Given the description of an element on the screen output the (x, y) to click on. 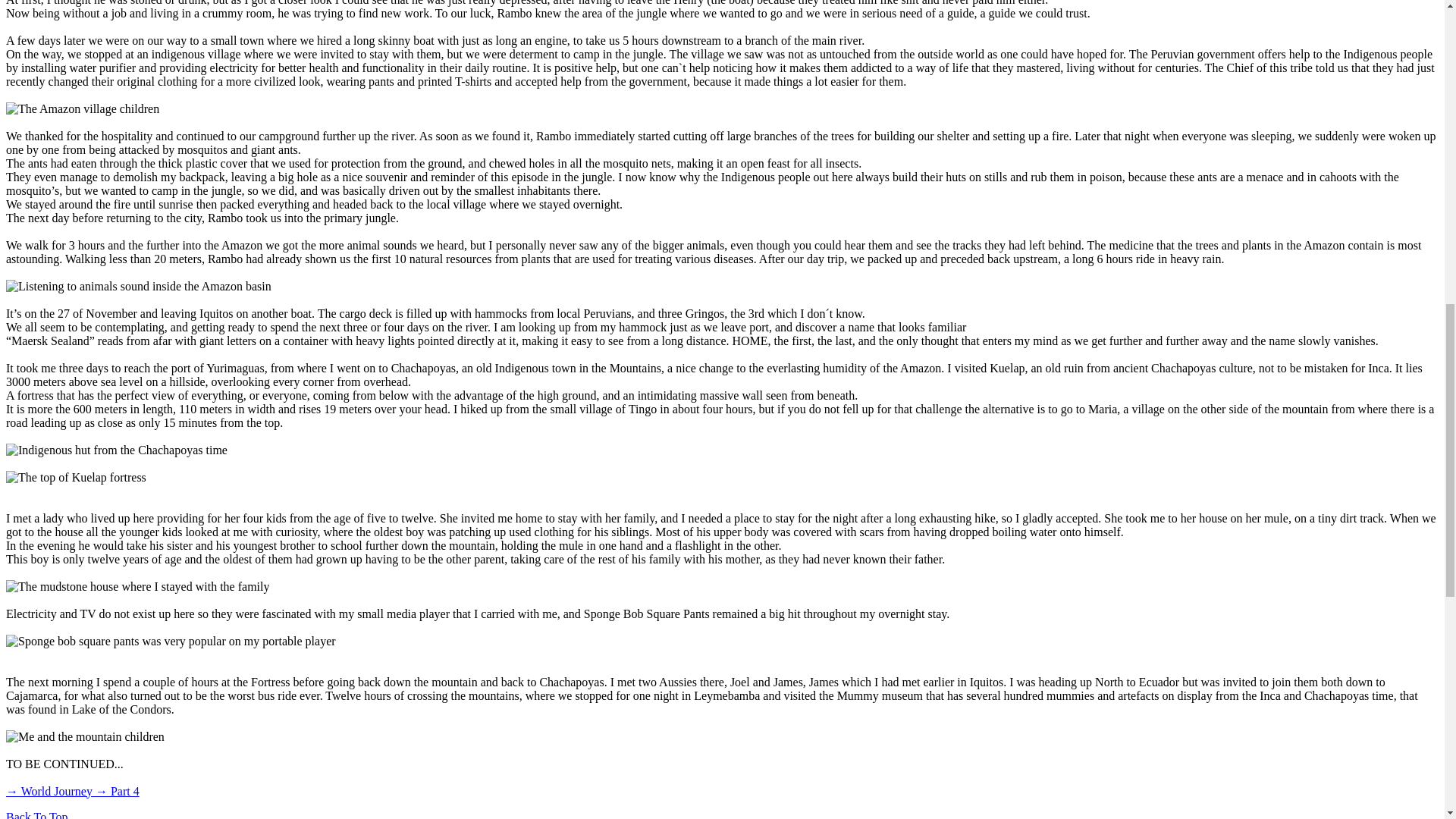
Indigenous hut from the Chachapoyas time (116, 450)
The Amazon village children (81, 109)
Listening to animals sound inside the Amazon basin (137, 286)
The mudstone house where I stayed with the family (137, 586)
Me and the mountain children (84, 736)
The top top of Kuelap fortress (76, 477)
World journey Part 4 (72, 790)
Back To Top (36, 814)
